Given the description of an element on the screen output the (x, y) to click on. 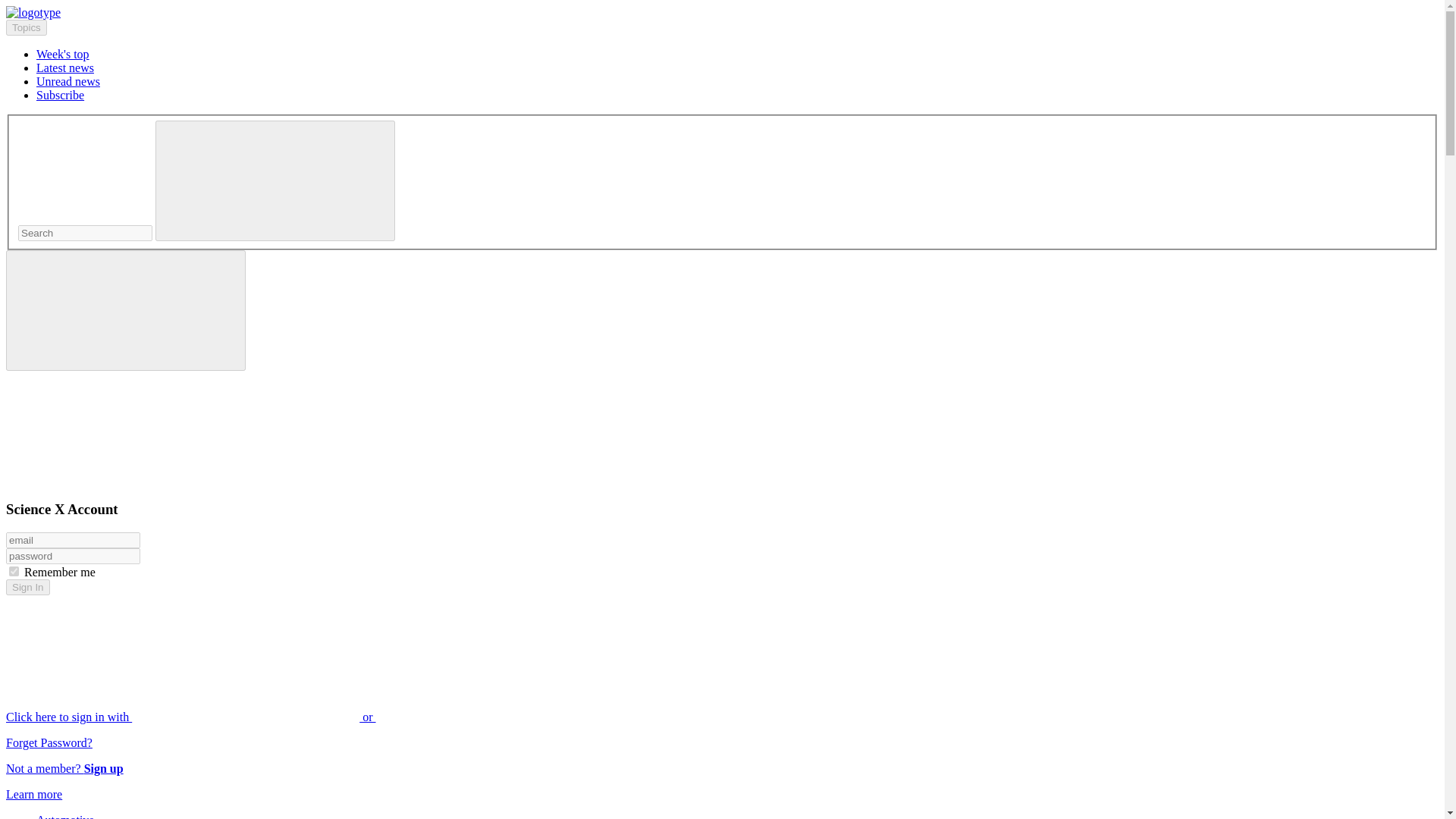
Unread news (68, 81)
Week's top (62, 53)
Sign In (27, 587)
Automotive (65, 816)
Latest news (65, 67)
Topics (25, 27)
on (13, 571)
Learn more (33, 793)
Forget Password? (49, 742)
Click here to sign in with or (304, 716)
Not a member? Sign up (64, 768)
Subscribe (60, 94)
